Given the description of an element on the screen output the (x, y) to click on. 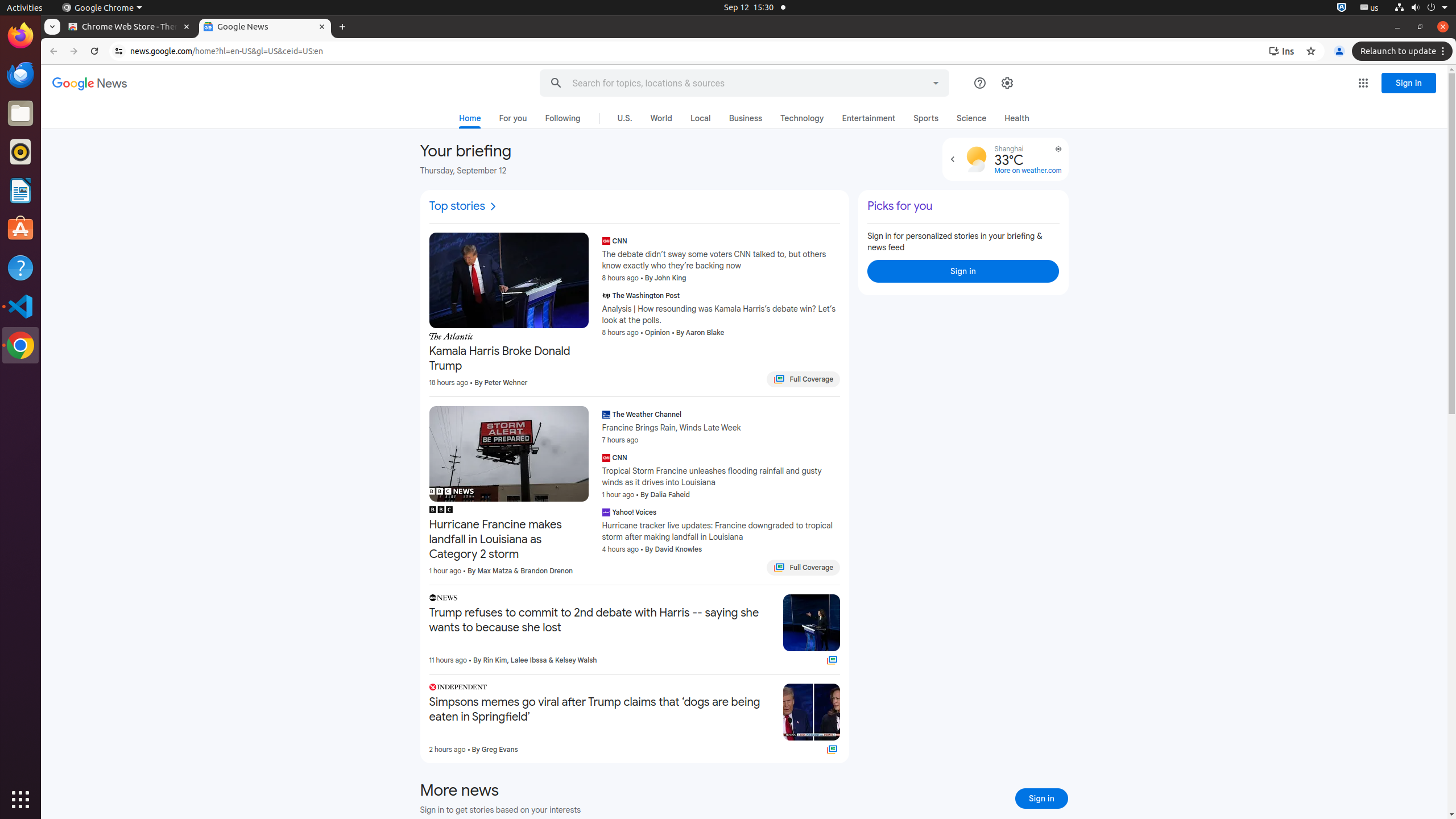
Ubuntu Software Element type: push-button (20, 229)
The debate didn’t sway some voters CNN talked to, but others know exactly who they’re backing now Element type: link (720, 259)
Use precise location Element type: push-button (1052, 153)
Rhythmbox Element type: push-button (20, 151)
More - Hurricane Francine makes landfall in Louisiana as Category 2 storm Element type: push-button (584, 511)
